Given the description of an element on the screen output the (x, y) to click on. 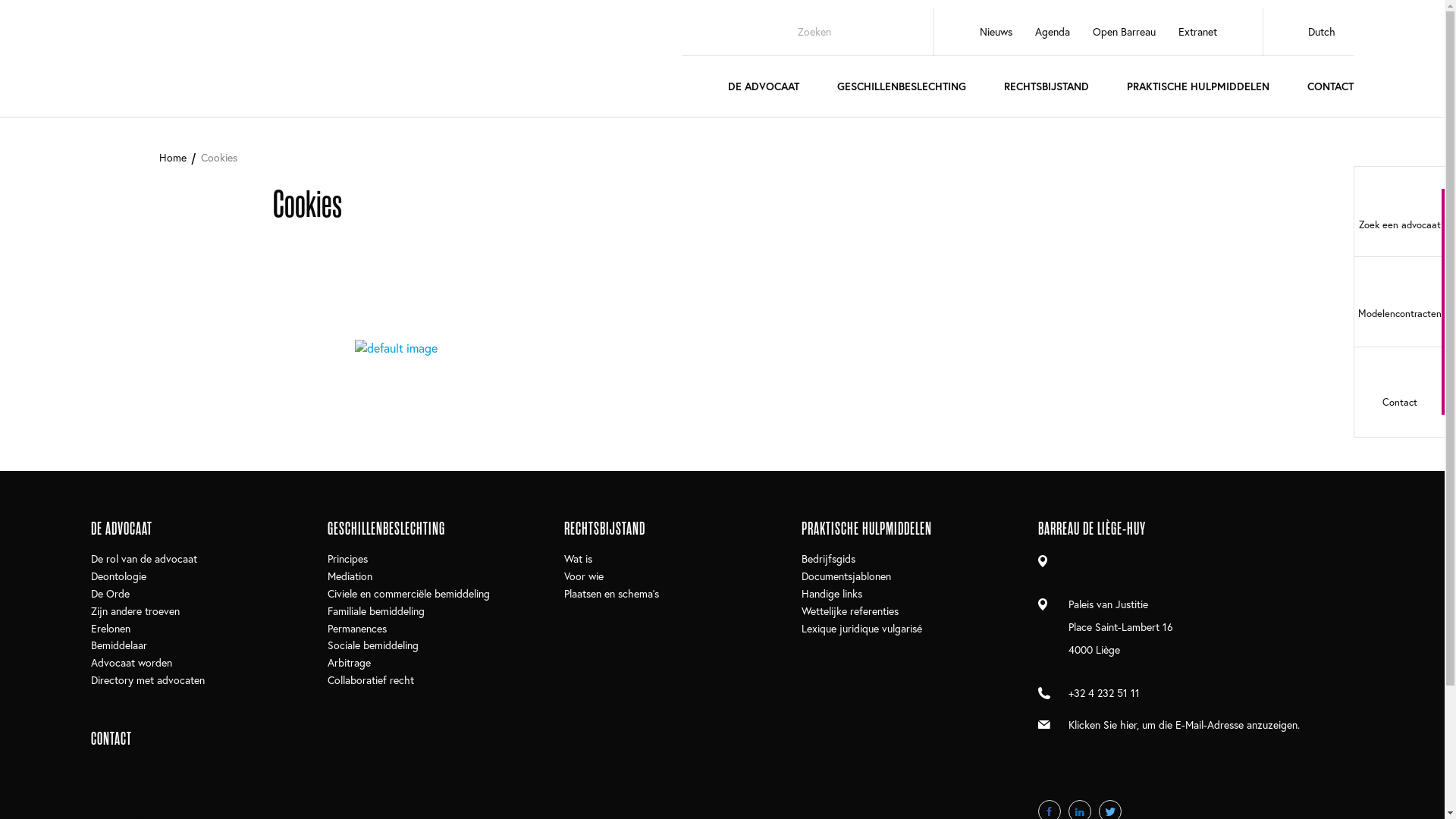
Bemiddelaar Element type: text (119, 645)
Familiale bemiddeling Element type: text (375, 611)
CONTACT Element type: text (209, 739)
Wat is Element type: text (578, 559)
Zoek een advocaat Element type: text (1398, 211)
Documentsjablonen Element type: text (846, 576)
Apply Element type: text (883, 30)
Contact Element type: text (1398, 391)
CONTACT Element type: text (1330, 93)
Open Barreau Element type: text (1123, 31)
+32 4 232 51 11 Element type: text (1103, 692)
Zijn andere troeven Element type: text (135, 611)
Voor wie Element type: text (583, 576)
Modelencontracten Element type: text (1398, 301)
Overslaan en naar de inhoud gaan Element type: text (0, 118)
Nieuws Element type: text (995, 31)
Handige links Element type: text (831, 594)
Erelonen Element type: text (110, 628)
Bedrijfsgids Element type: text (828, 559)
Plaatsen en schema's Element type: text (611, 594)
Principes Element type: text (347, 559)
Agenda Element type: text (1052, 31)
Advocaat worden Element type: text (131, 663)
De rol van de advocaat Element type: text (144, 559)
Deontologie Element type: text (118, 576)
Collaboratief recht Element type: text (370, 680)
Permanences Element type: text (356, 628)
De Orde Element type: text (110, 594)
Mediation Element type: text (349, 576)
Wettelijke referenties Element type: text (849, 611)
Sociale bemiddeling Element type: text (372, 645)
Extranet Element type: text (1197, 31)
Home Element type: text (172, 157)
Arbitrage Element type: text (348, 663)
Directory met advocaten Element type: text (147, 680)
Klicken Sie hier, um die E-Mail-Adresse anzuzeigen. Element type: text (1183, 724)
